Given the description of an element on the screen output the (x, y) to click on. 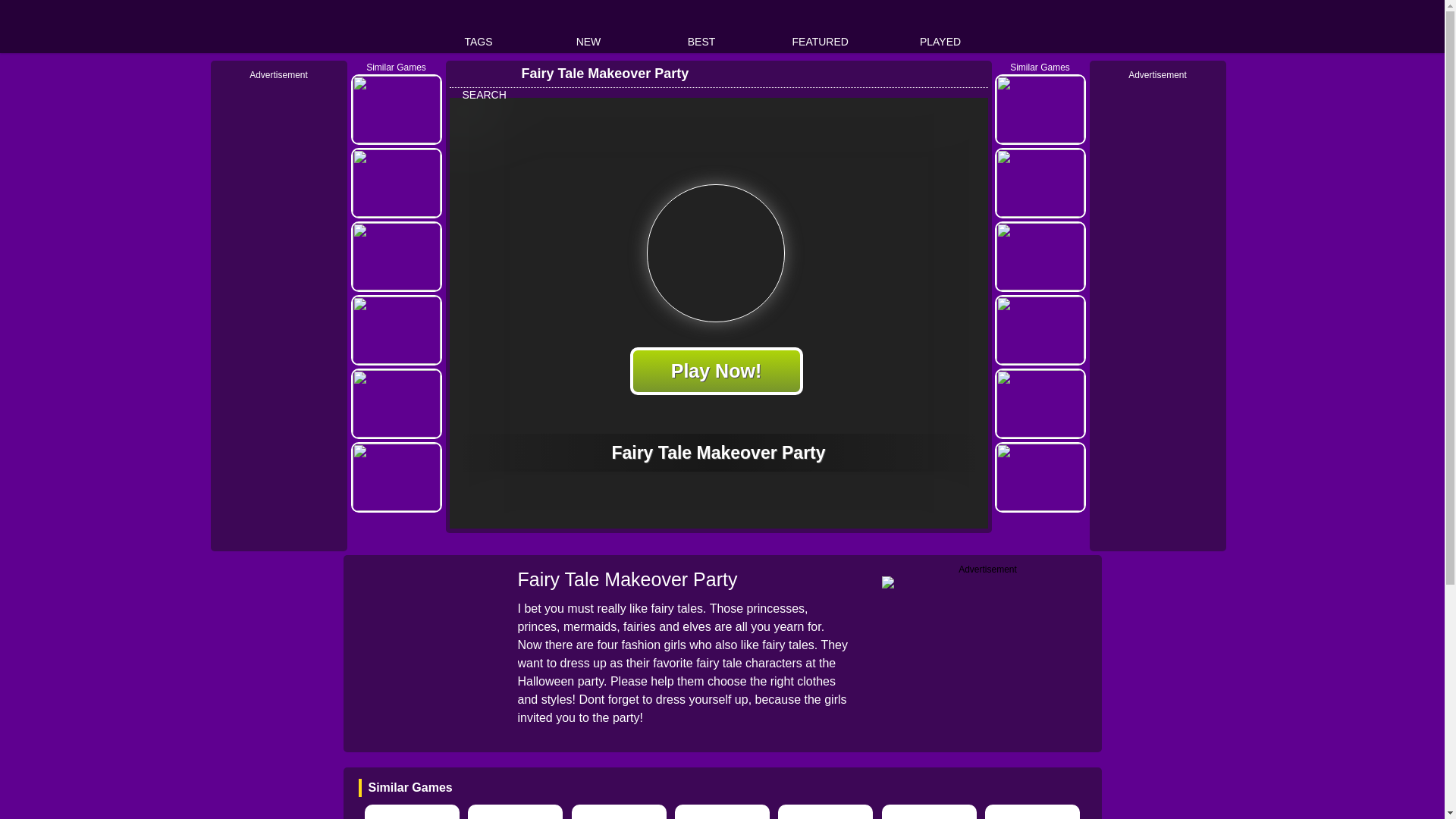
Fairy Tale Makeover Party (594, 73)
Play game fullscreen (945, 73)
Replay this game (969, 73)
NEW (587, 26)
Play Best Free Online Games (403, 26)
TAGS (478, 26)
FEATURED (819, 26)
SEARCH (483, 79)
BEST (701, 26)
PLAYED (939, 26)
